Given the description of an element on the screen output the (x, y) to click on. 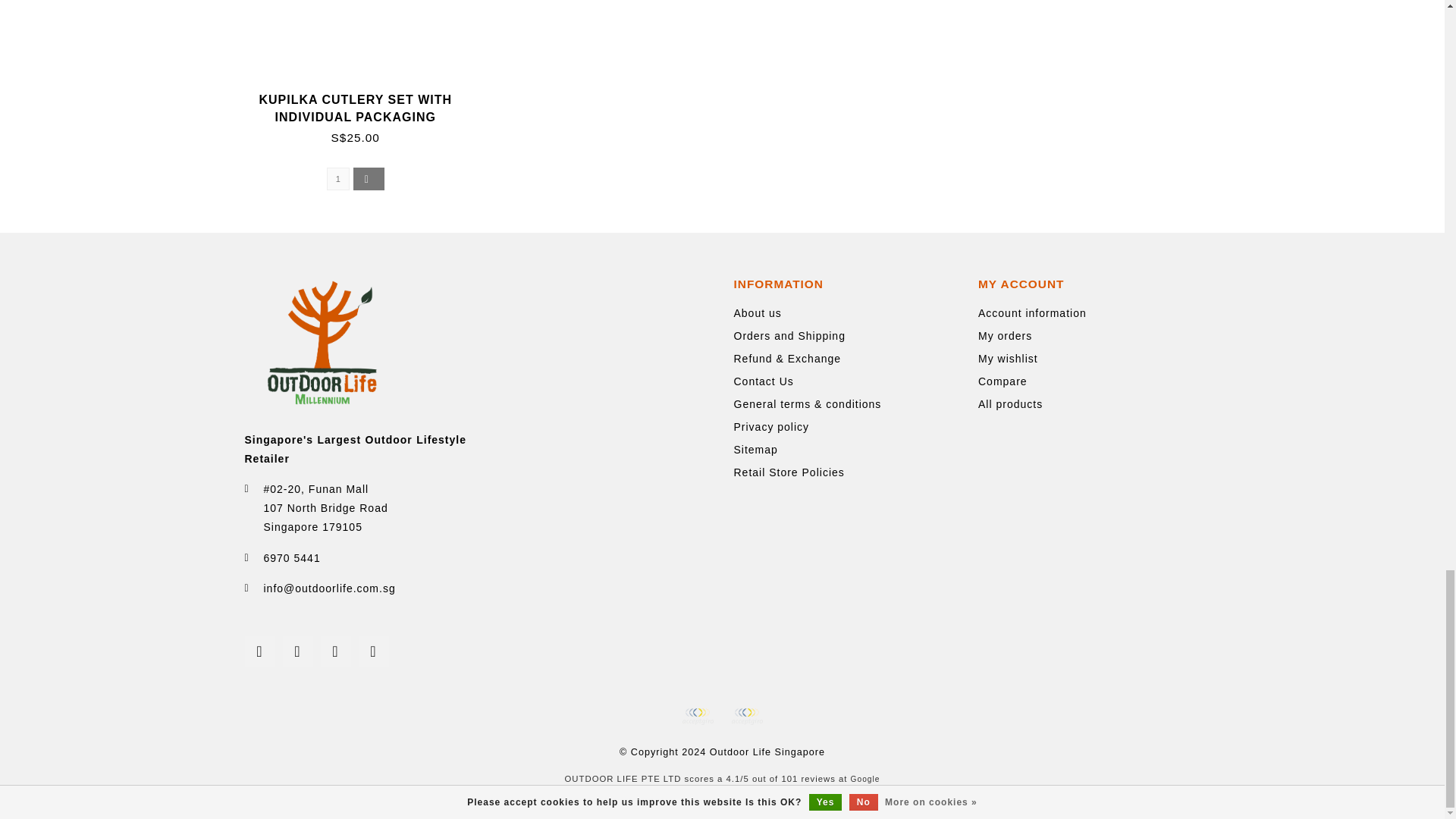
1 (337, 178)
Kupilka Kupilka Cutlery Set with Individual Packaging (366, 46)
